Given the description of an element on the screen output the (x, y) to click on. 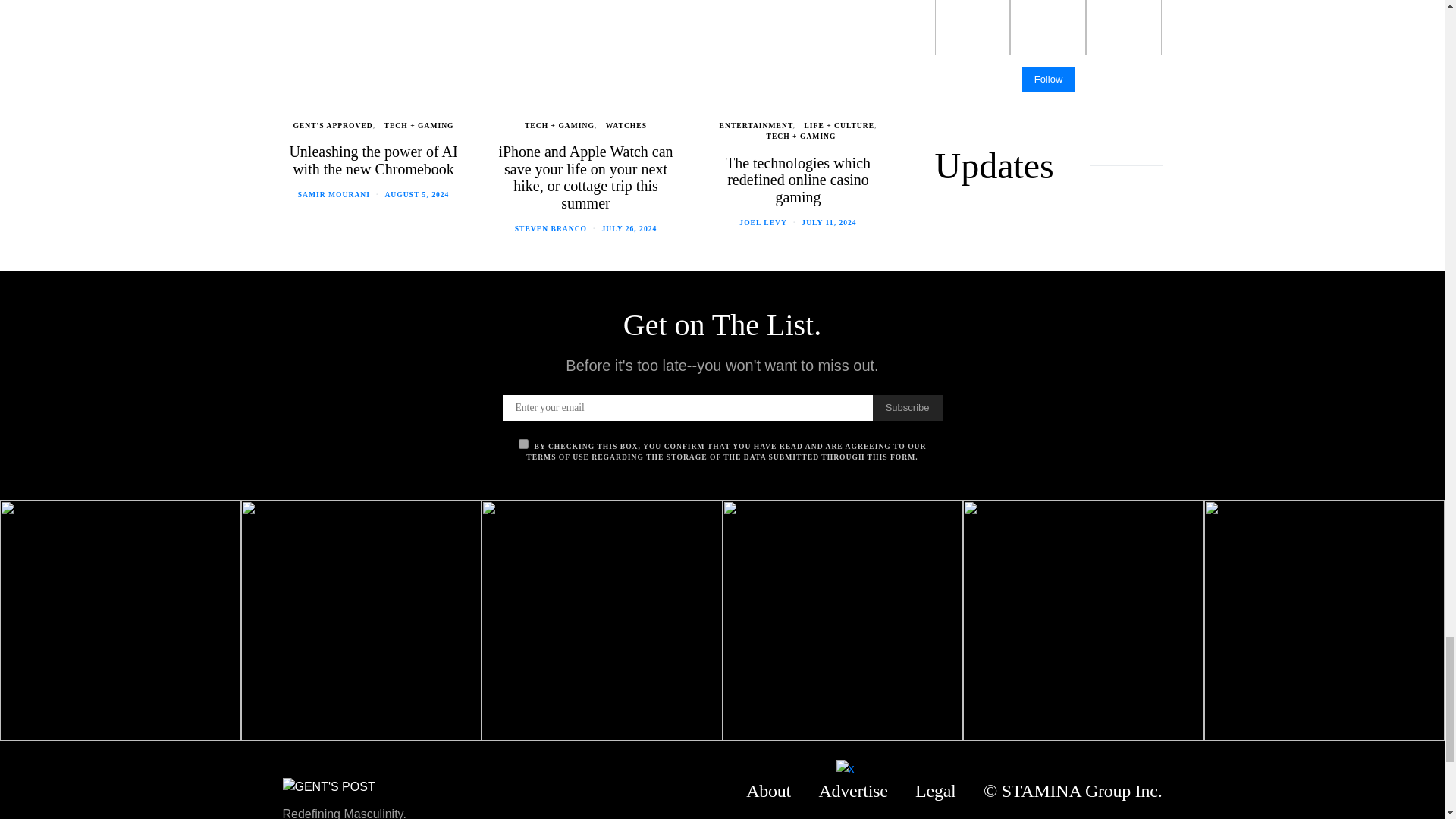
on (523, 443)
View all posts by Steven Branco (550, 228)
View all posts by Samir Mourani (333, 194)
View all posts by Joel Levy (763, 222)
